Given the description of an element on the screen output the (x, y) to click on. 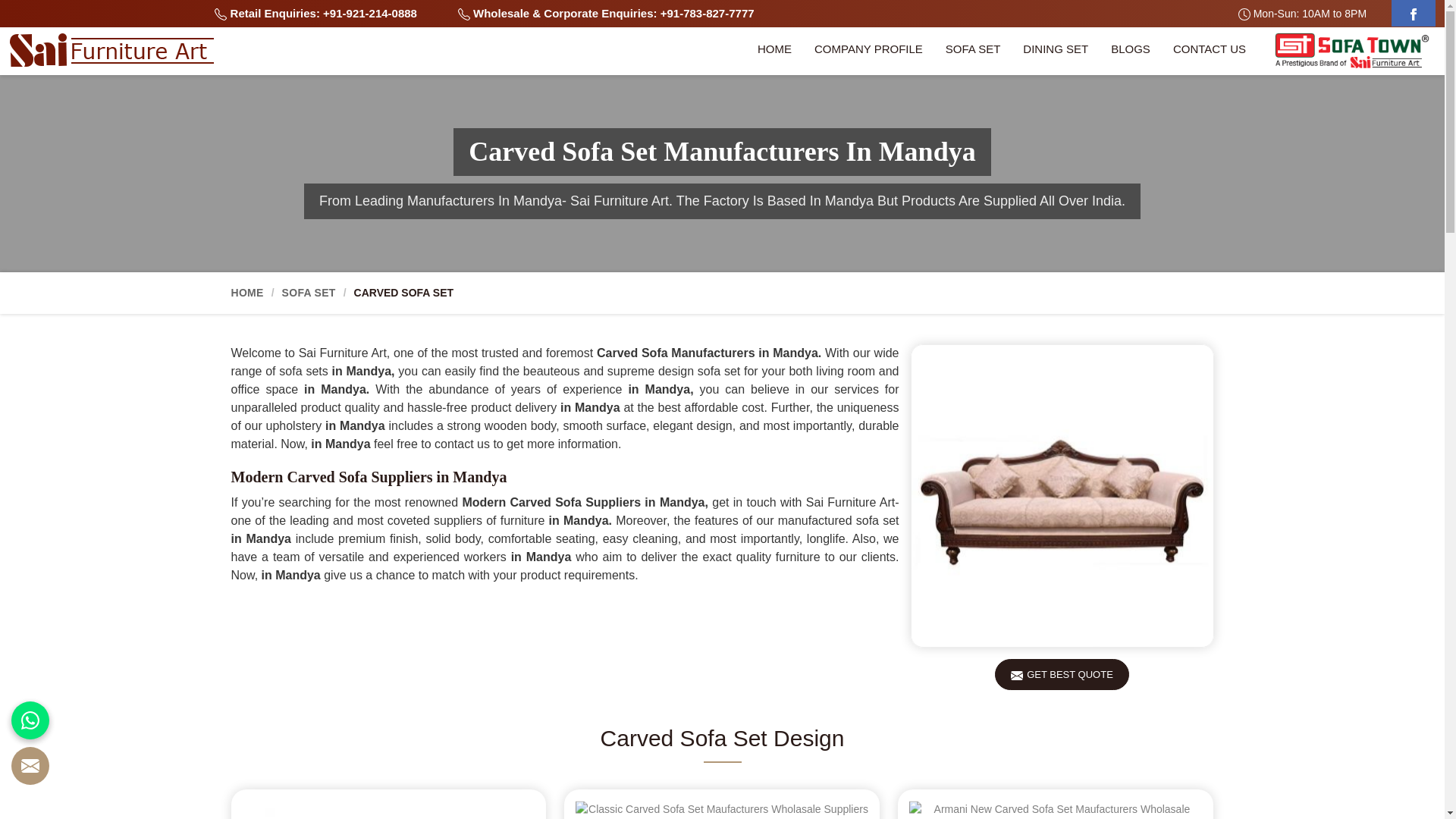
Blogs (1130, 51)
Sofa Town (1351, 51)
HOME (774, 51)
CONTACT US (1209, 51)
Sai Furniture Art (111, 50)
DINING SET (1055, 51)
Home (774, 51)
Sofa Set (972, 51)
COMPANY PROFILE (868, 51)
Company Profile (868, 51)
